Given the description of an element on the screen output the (x, y) to click on. 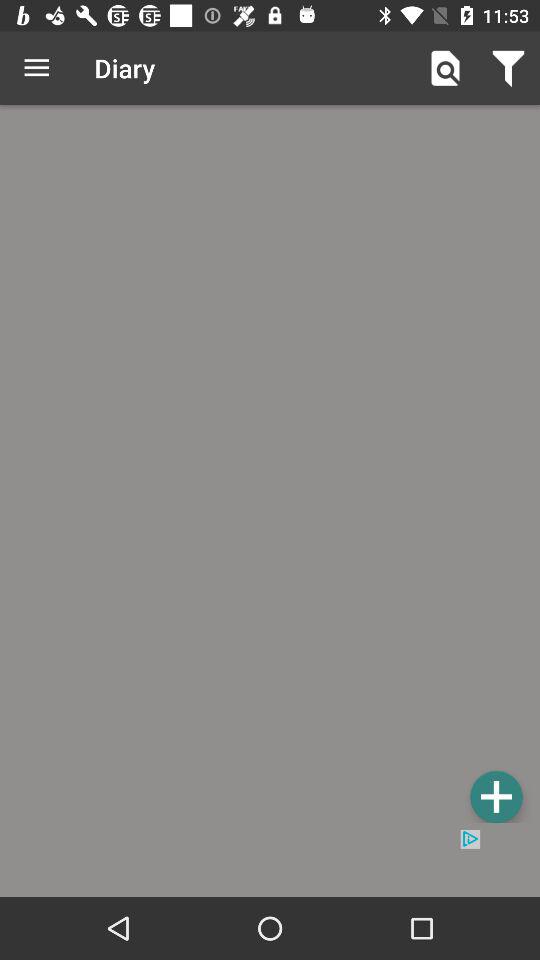
tap the icon at the center (269, 467)
